Given the description of an element on the screen output the (x, y) to click on. 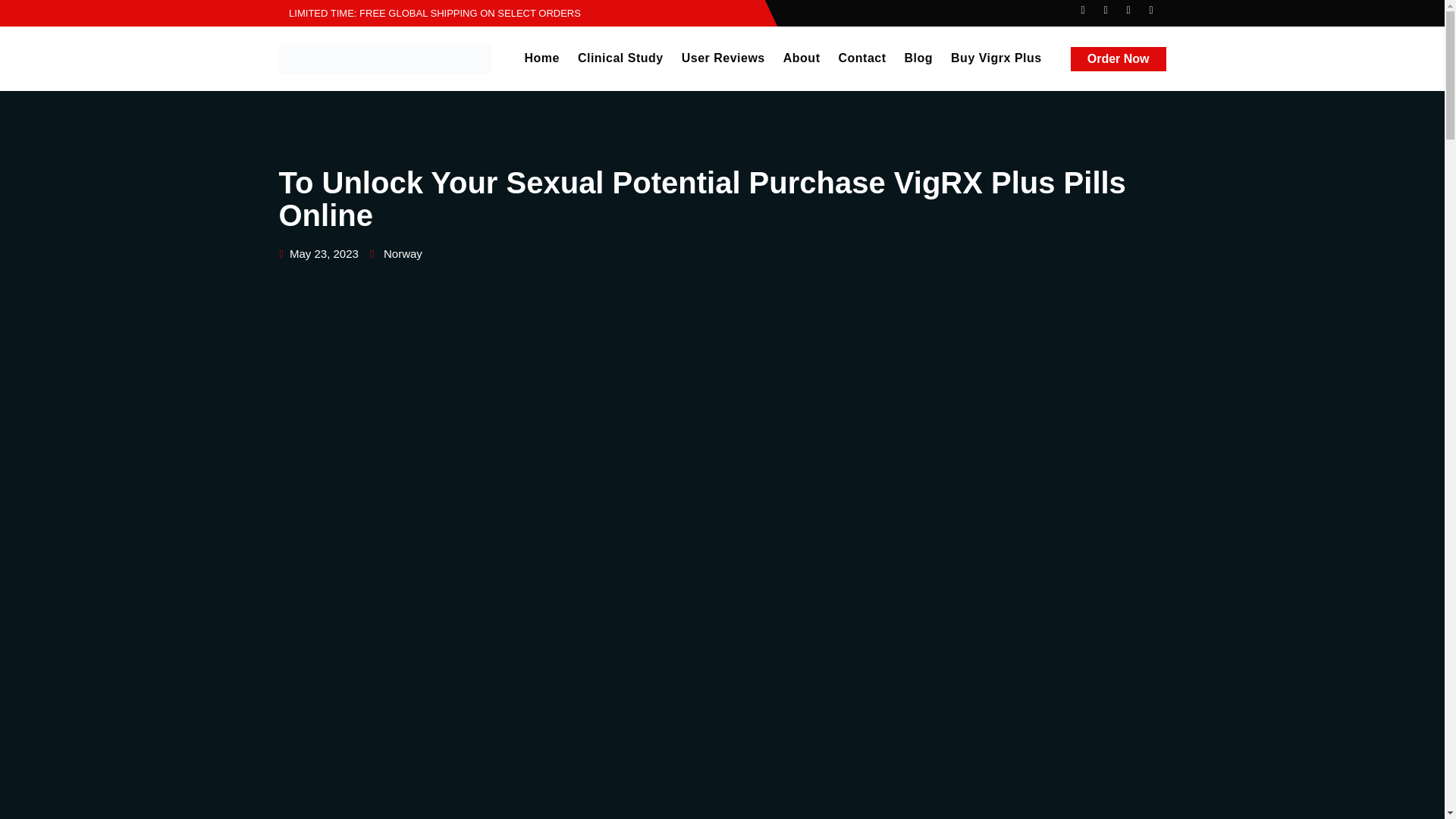
Contact (861, 57)
Home (541, 57)
Buy Vigrx Plus (996, 57)
User Reviews (723, 57)
Order Now (1118, 58)
Buy Vigrx Plus (996, 57)
Contact (861, 57)
Norway (403, 254)
User Reviews (723, 57)
LIMITED TIME: FREE GLOBAL SHIPPING ON SELECT ORDERS (429, 12)
